Given the description of an element on the screen output the (x, y) to click on. 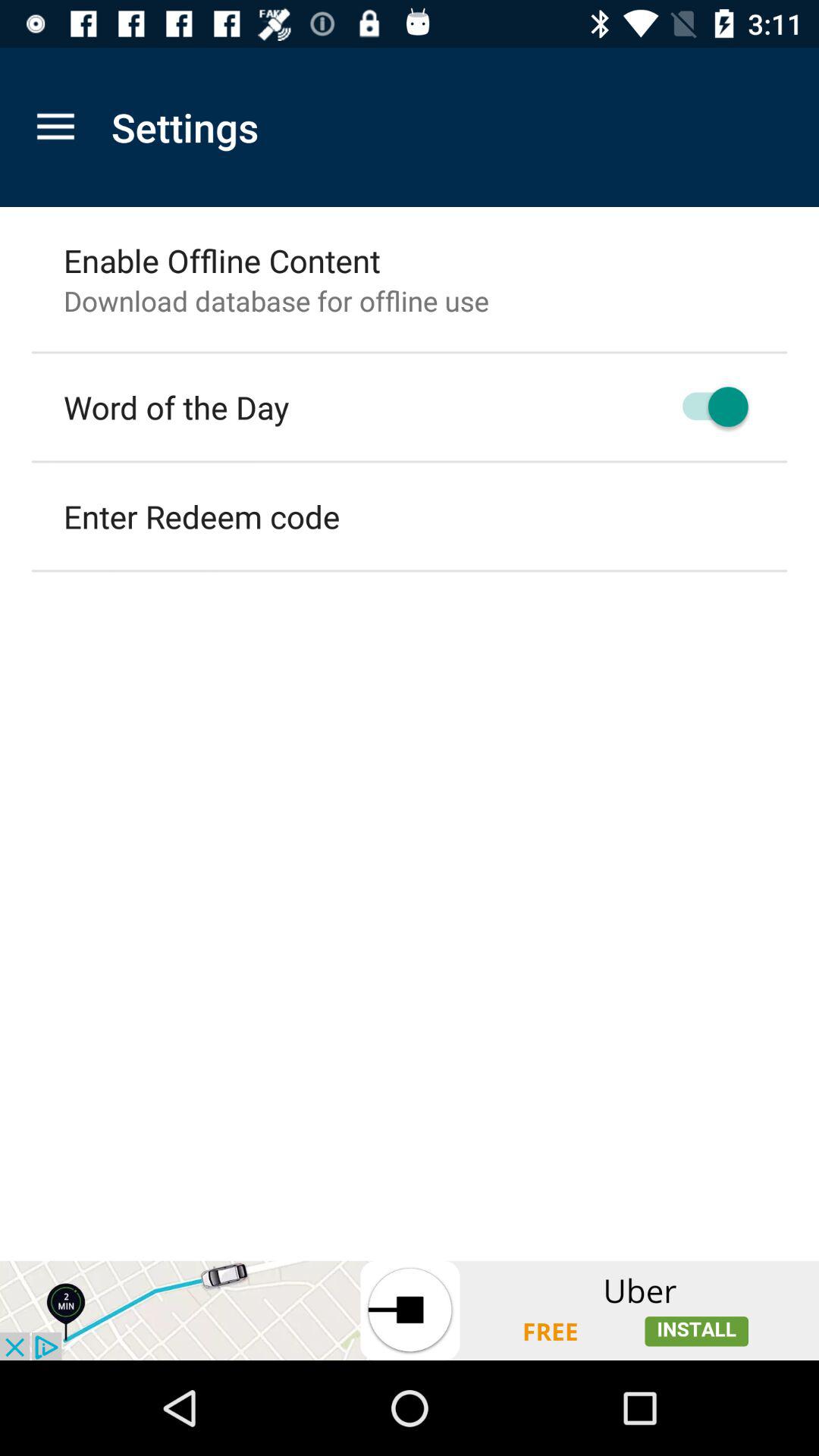
sponsor advertisement for uber (409, 1310)
